Given the description of an element on the screen output the (x, y) to click on. 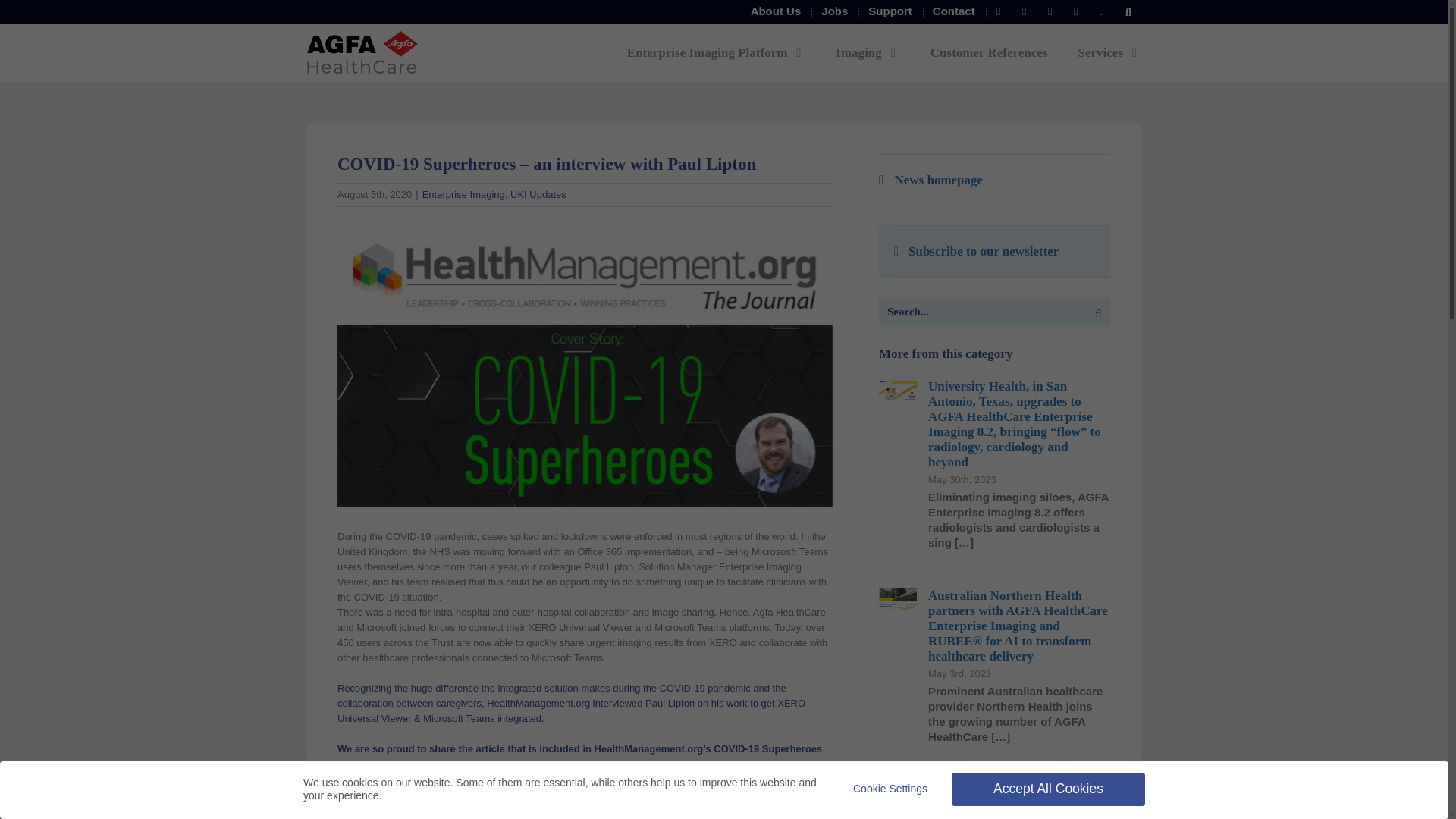
Contact (954, 11)
Search (1128, 11)
Imaging (867, 52)
About Us (775, 11)
Enterprise Imaging Platform (716, 52)
Support (890, 11)
Jobs (833, 11)
